Given the description of an element on the screen output the (x, y) to click on. 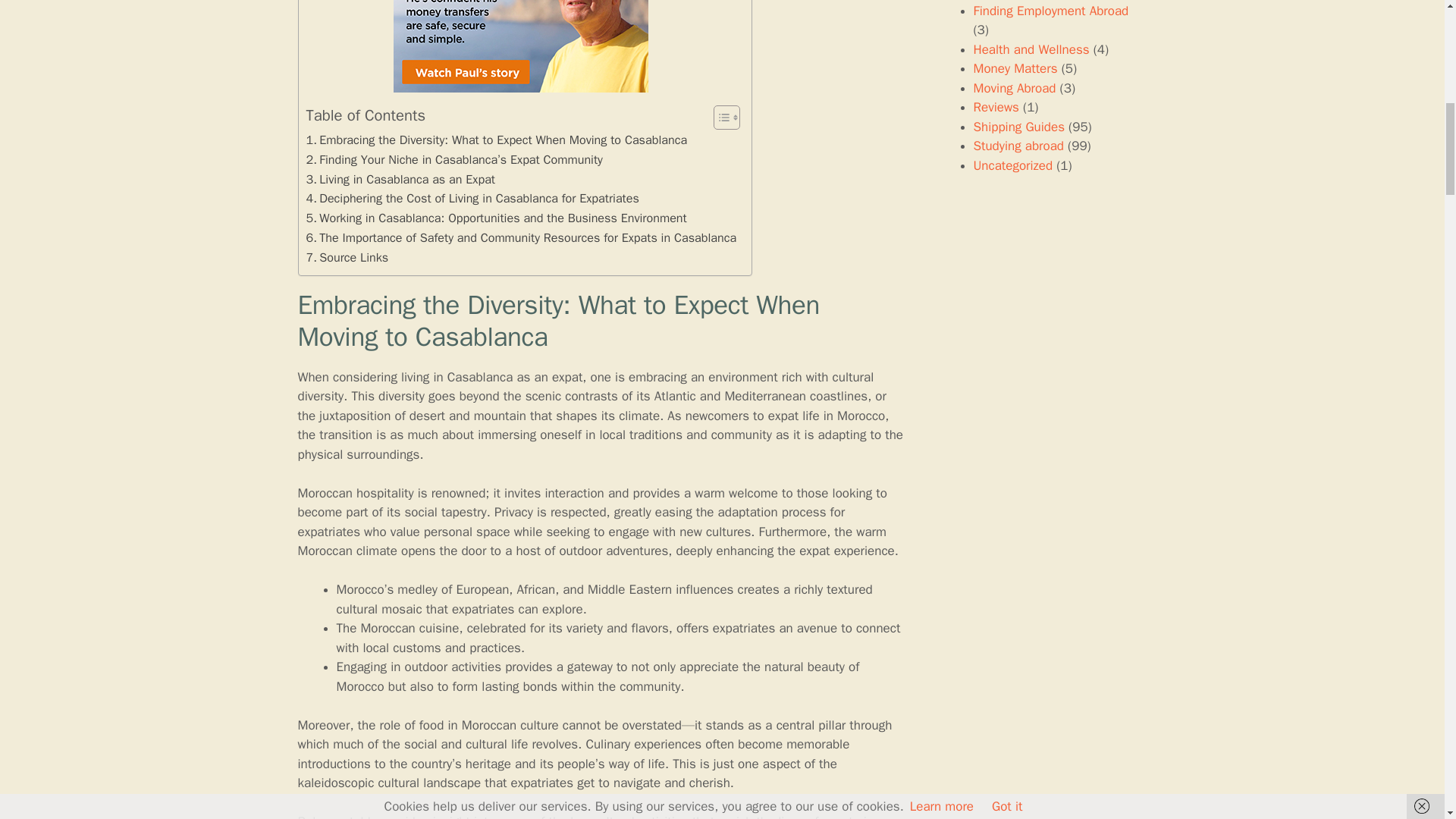
Living in Casablanca as an Expat (400, 179)
Deciphering the Cost of Living in Casablanca for Expatriates (472, 198)
Source Links (346, 257)
